Given the description of an element on the screen output the (x, y) to click on. 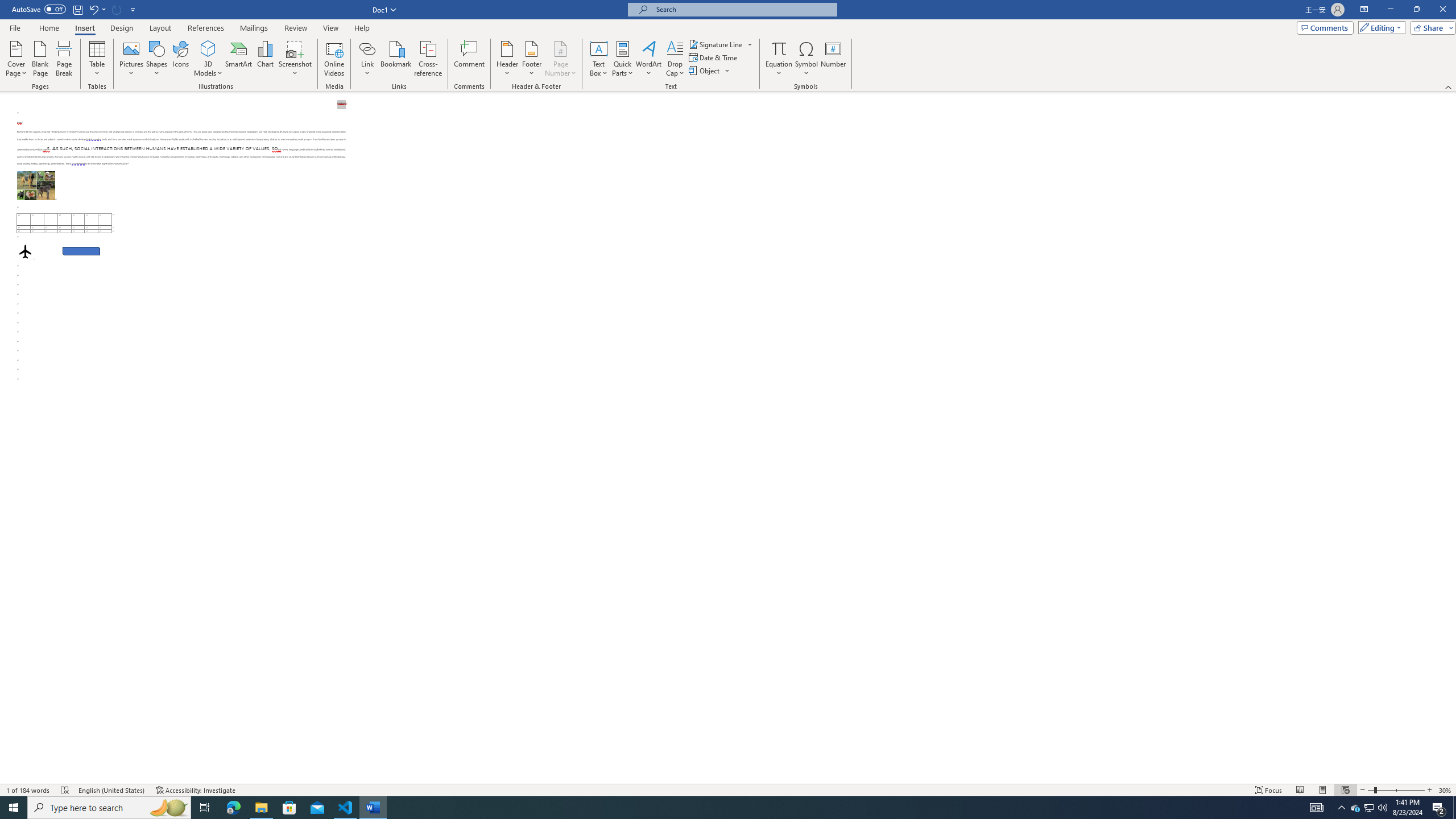
Restore Down (1416, 9)
Table (97, 58)
Cross-reference... (428, 58)
Airplane with solid fill (25, 251)
Zoom In (1430, 790)
Page Number (560, 58)
SmartArt... (238, 58)
Web Layout (1344, 790)
Drop Cap (674, 58)
View (330, 28)
Comment (469, 58)
Spelling and Grammar Check Errors (65, 790)
Object... (709, 69)
